Given the description of an element on the screen output the (x, y) to click on. 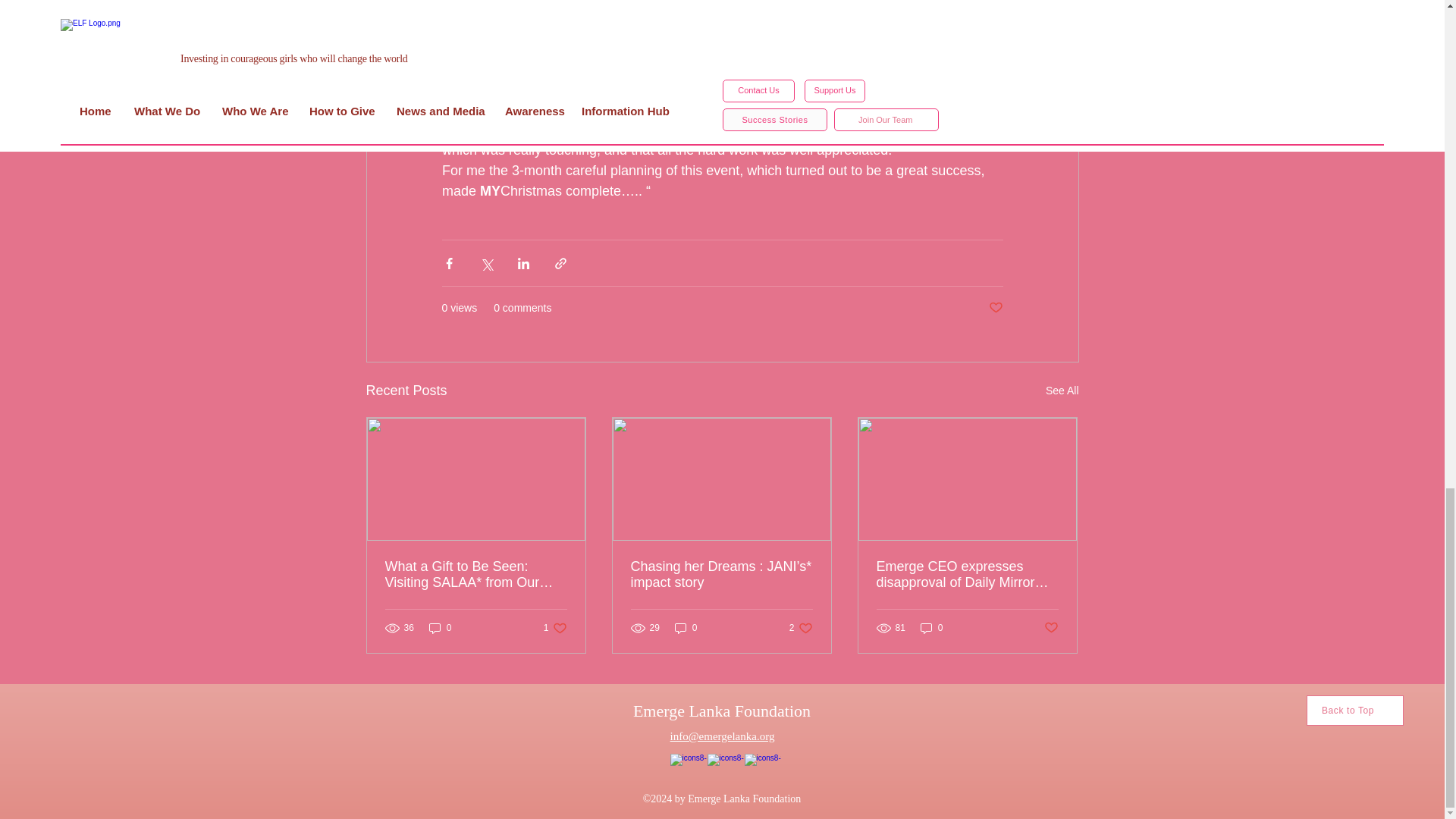
0 (440, 627)
0 (555, 627)
See All (800, 627)
Post not marked as liked (685, 627)
